Given the description of an element on the screen output the (x, y) to click on. 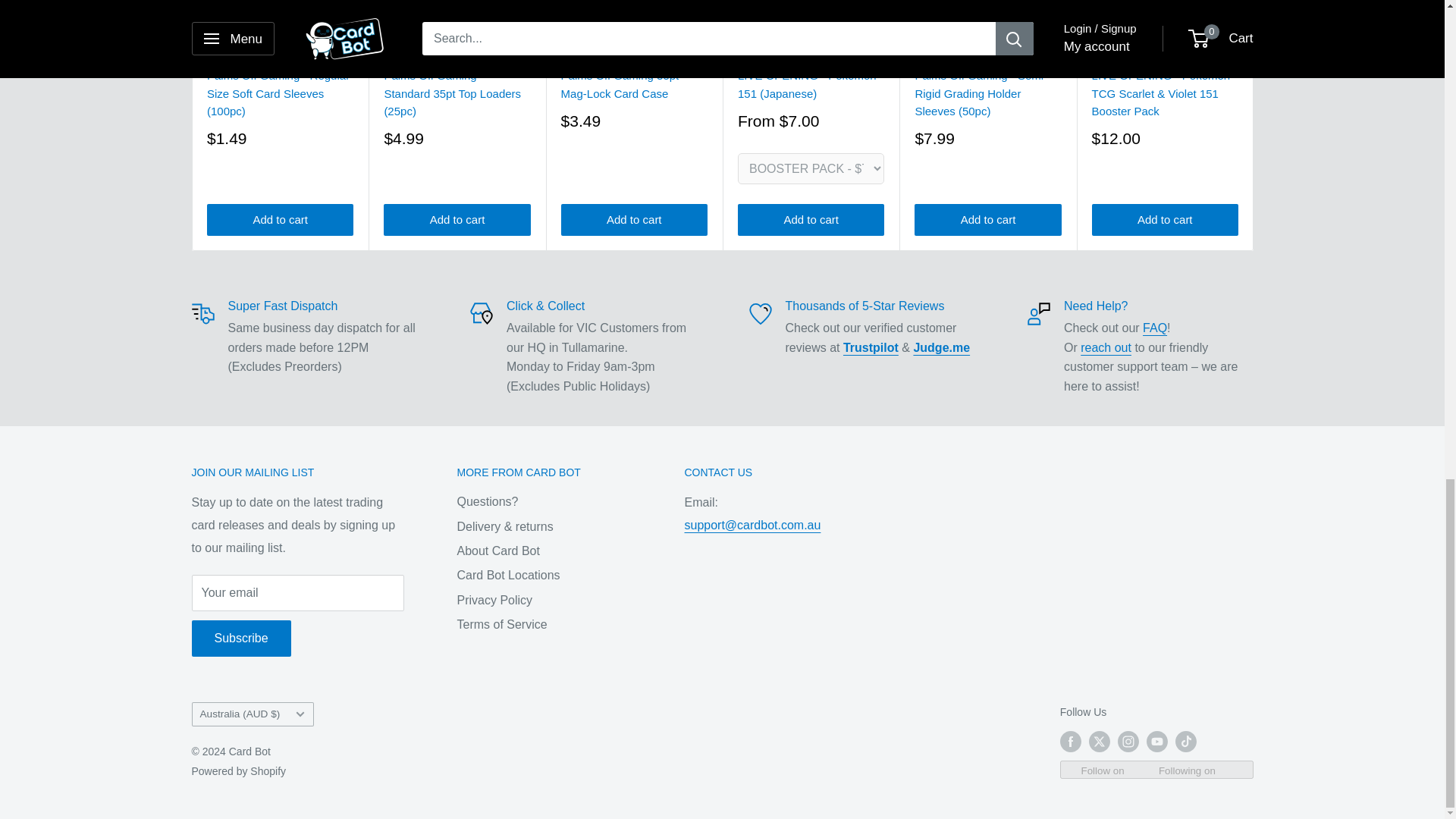
Frequently Asked Questions (1154, 327)
Contact (1105, 347)
